Given the description of an element on the screen output the (x, y) to click on. 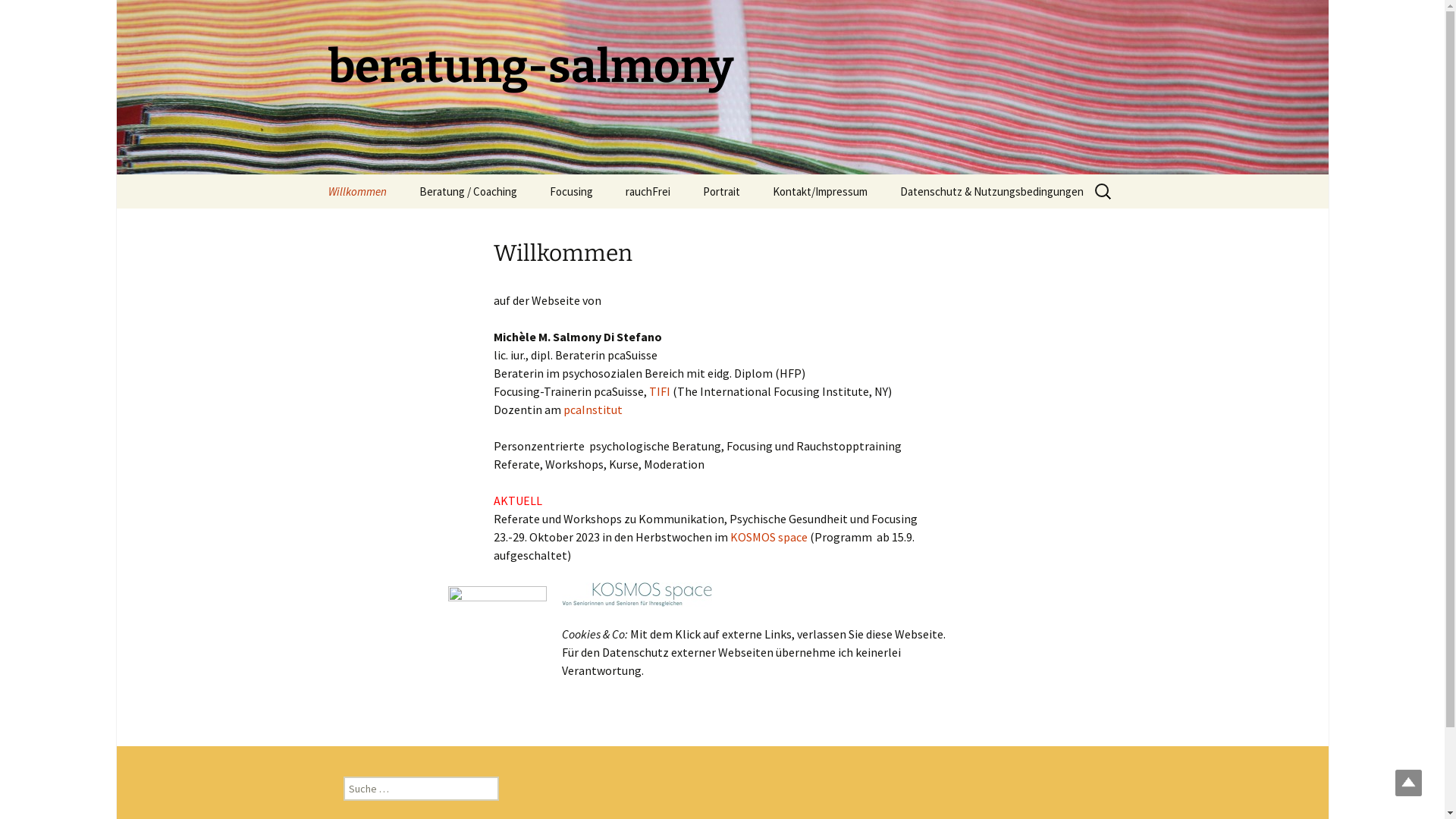
rauchFrei Element type: text (646, 191)
Kontakt/Impressum Element type: text (818, 191)
Zum Inhalt springen Element type: text (312, 174)
TIFI Element type: text (659, 390)
Suche Element type: text (32, 15)
KOSMOS space Element type: text (767, 536)
Datenschutz & Nutzungsbedingungen Element type: text (991, 191)
Suche Element type: text (18, 16)
Top Element type: text (1408, 782)
Focusing Element type: text (570, 191)
Portrait Element type: text (720, 191)
Beratung / Coaching Element type: text (467, 191)
Willkommen Element type: text (356, 191)
pcaInstitut Element type: text (591, 409)
beratung-salmony Element type: text (721, 87)
